Given the description of an element on the screen output the (x, y) to click on. 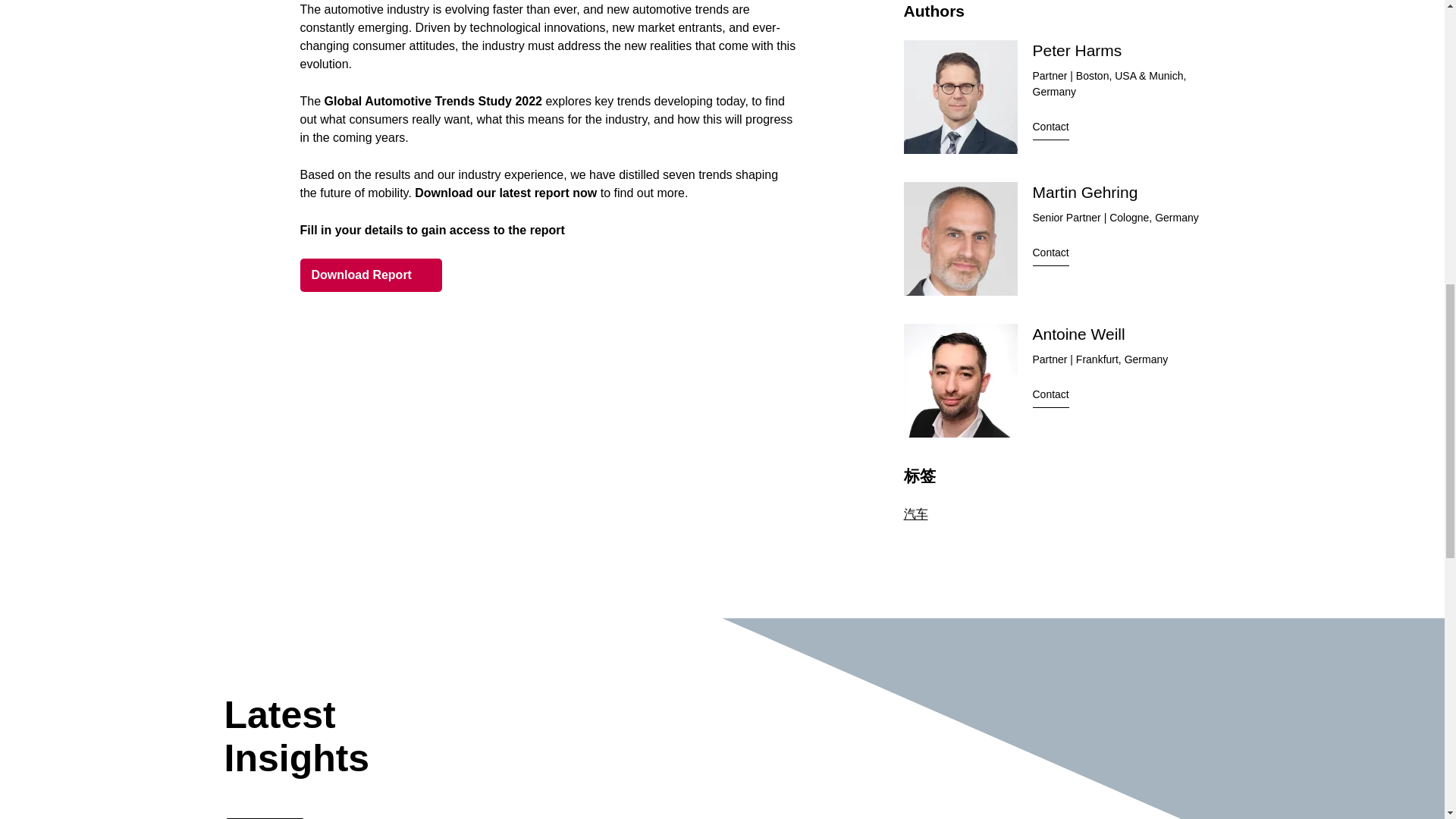
Contact (1050, 396)
Contact (1050, 129)
Download Report (370, 274)
Antoine Weill (1078, 334)
Peter Harms (1077, 49)
Martin Gehring (1085, 191)
Contact (1050, 255)
